Given the description of an element on the screen output the (x, y) to click on. 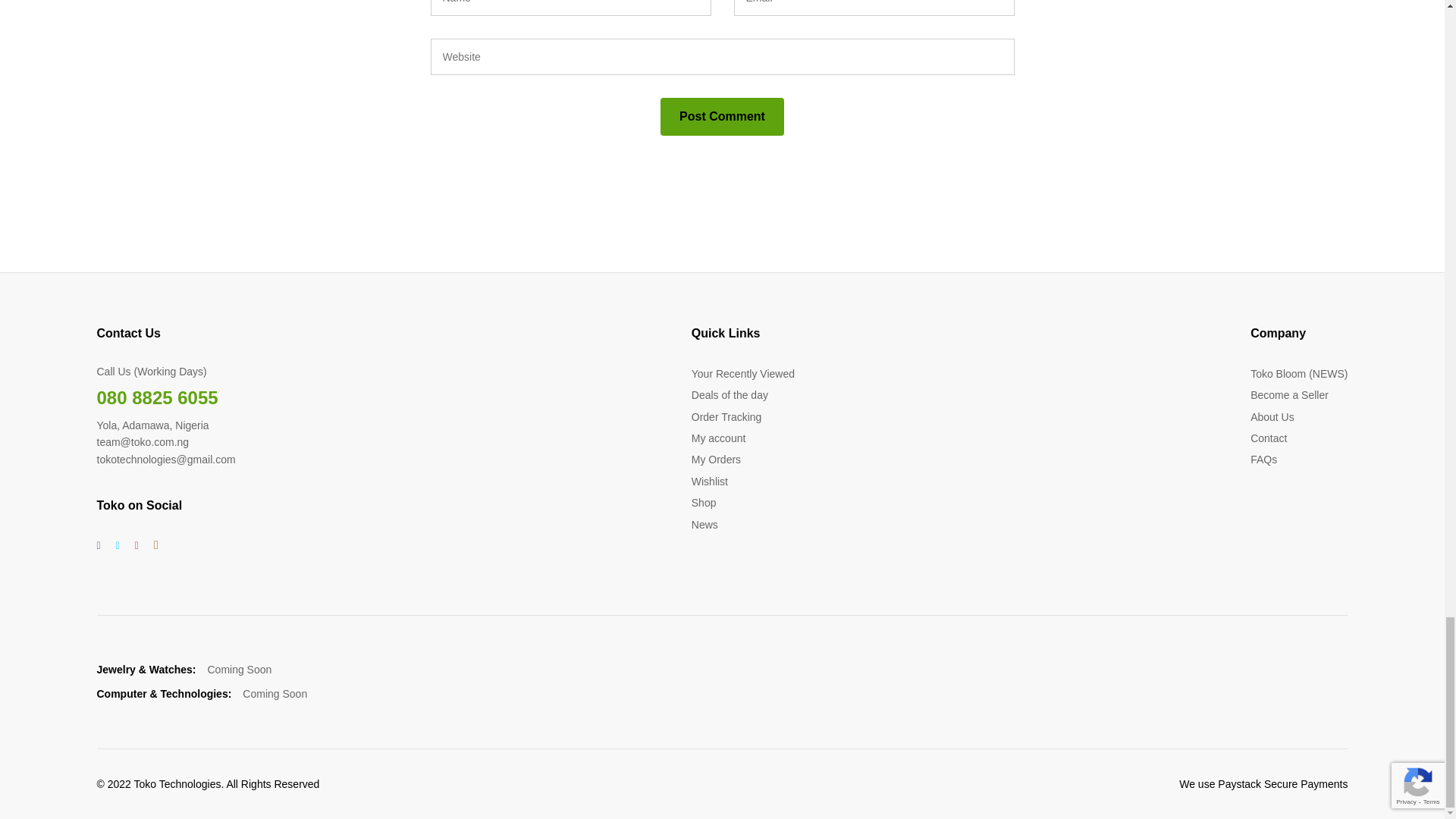
Twitter (117, 545)
Facebook (97, 545)
Post Comment (722, 116)
Instagram (156, 545)
Youtube (137, 545)
